Given the description of an element on the screen output the (x, y) to click on. 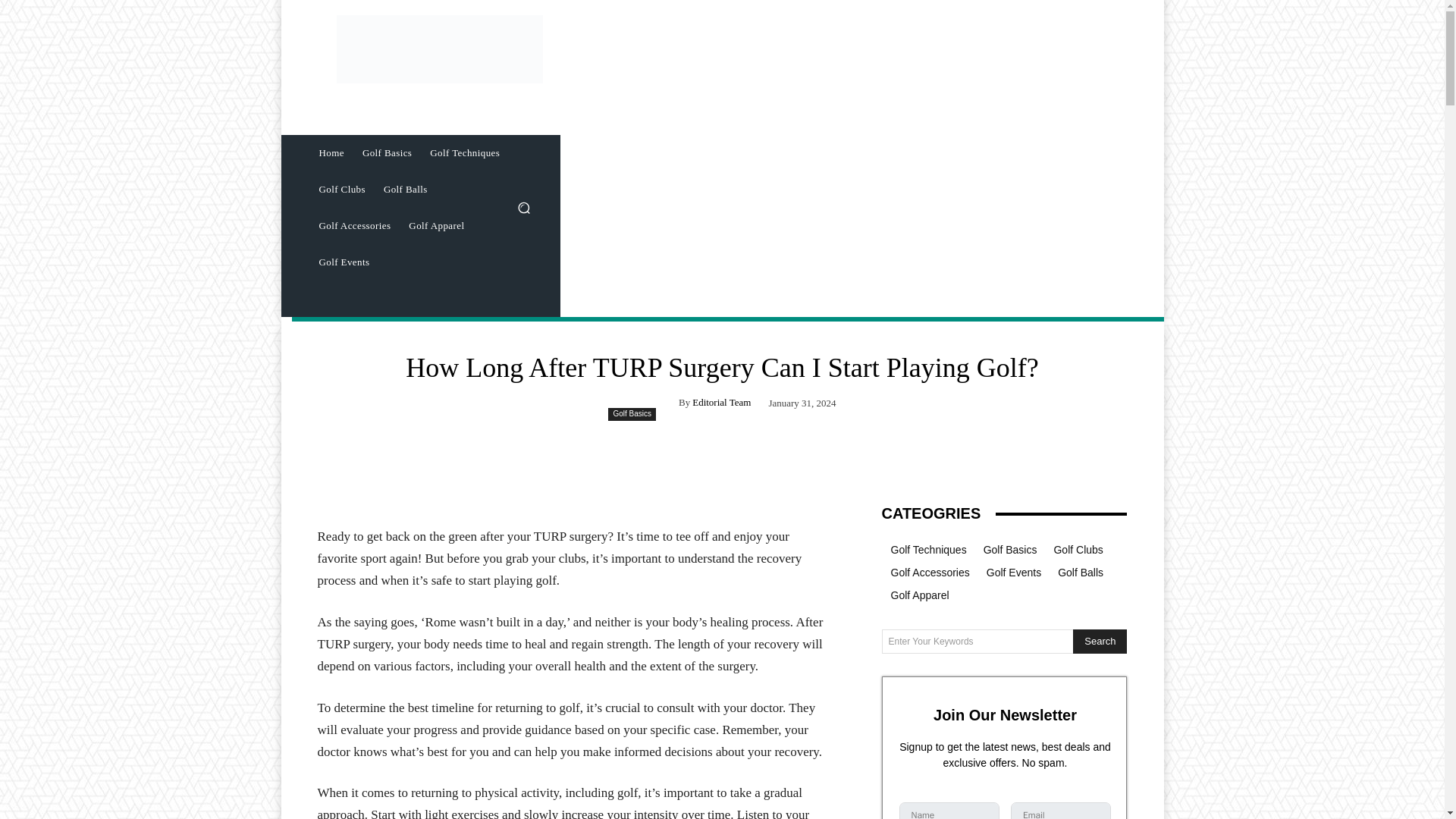
Golf Apparel (435, 226)
Golf Events (343, 262)
Golf Basics (632, 413)
Golf Accessories (353, 226)
Golf Basics (386, 153)
Editorial Team (722, 402)
Golf Clubs (341, 189)
Golf Balls (405, 189)
Home (330, 153)
Golf Techniques (464, 153)
